Given the description of an element on the screen output the (x, y) to click on. 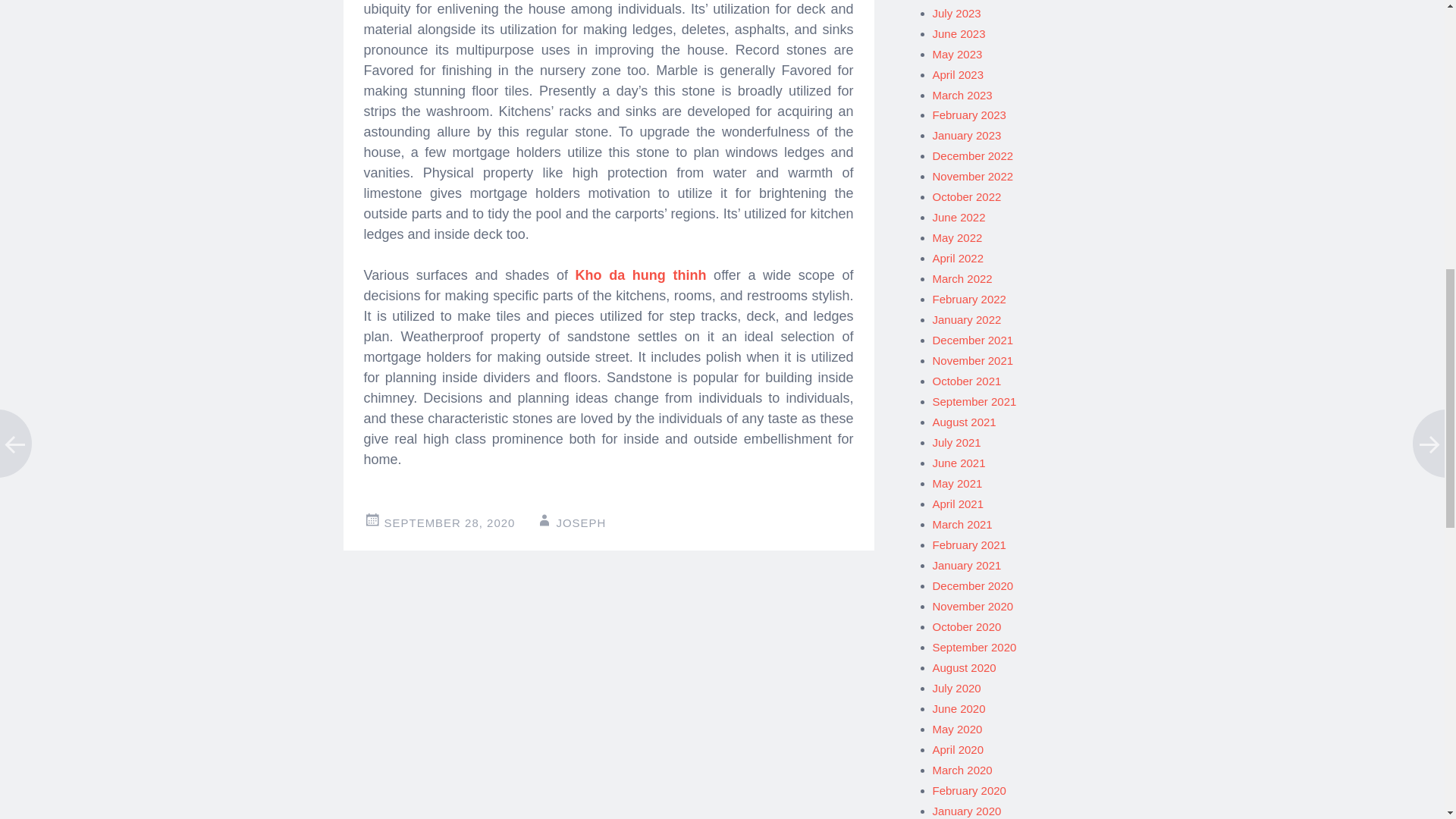
11:43 am (449, 522)
June 2023 (959, 33)
May 2023 (957, 53)
Kho da hung thinh (640, 274)
July 2023 (957, 12)
JOSEPH (580, 522)
View all posts by Joseph (580, 522)
SEPTEMBER 28, 2020 (449, 522)
